Given the description of an element on the screen output the (x, y) to click on. 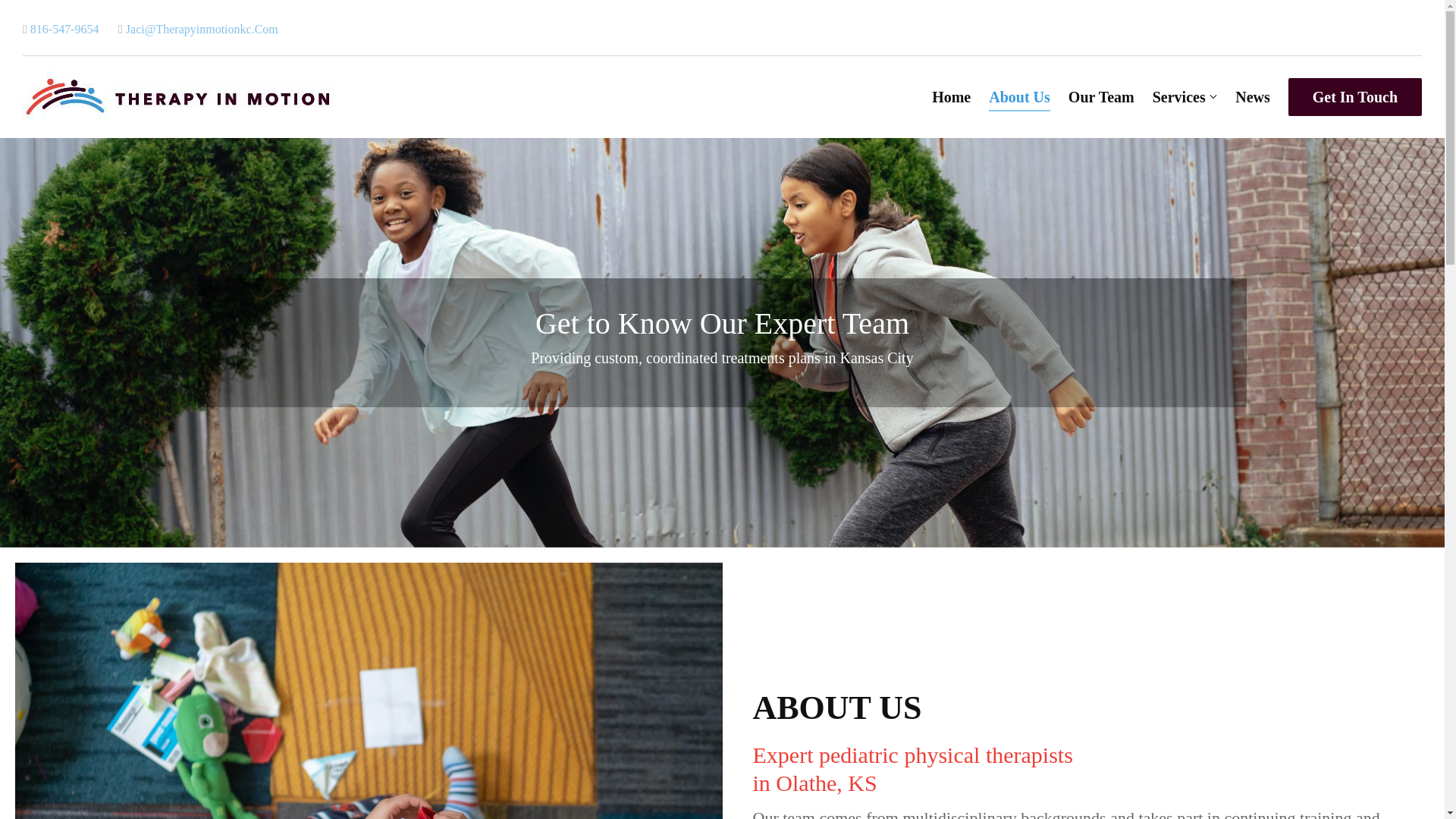
News (1251, 97)
Home (951, 97)
Services (1179, 97)
816-547-9654 (61, 29)
About Us (1018, 97)
Our Team (1101, 97)
Get In Touch (1355, 96)
